Given the description of an element on the screen output the (x, y) to click on. 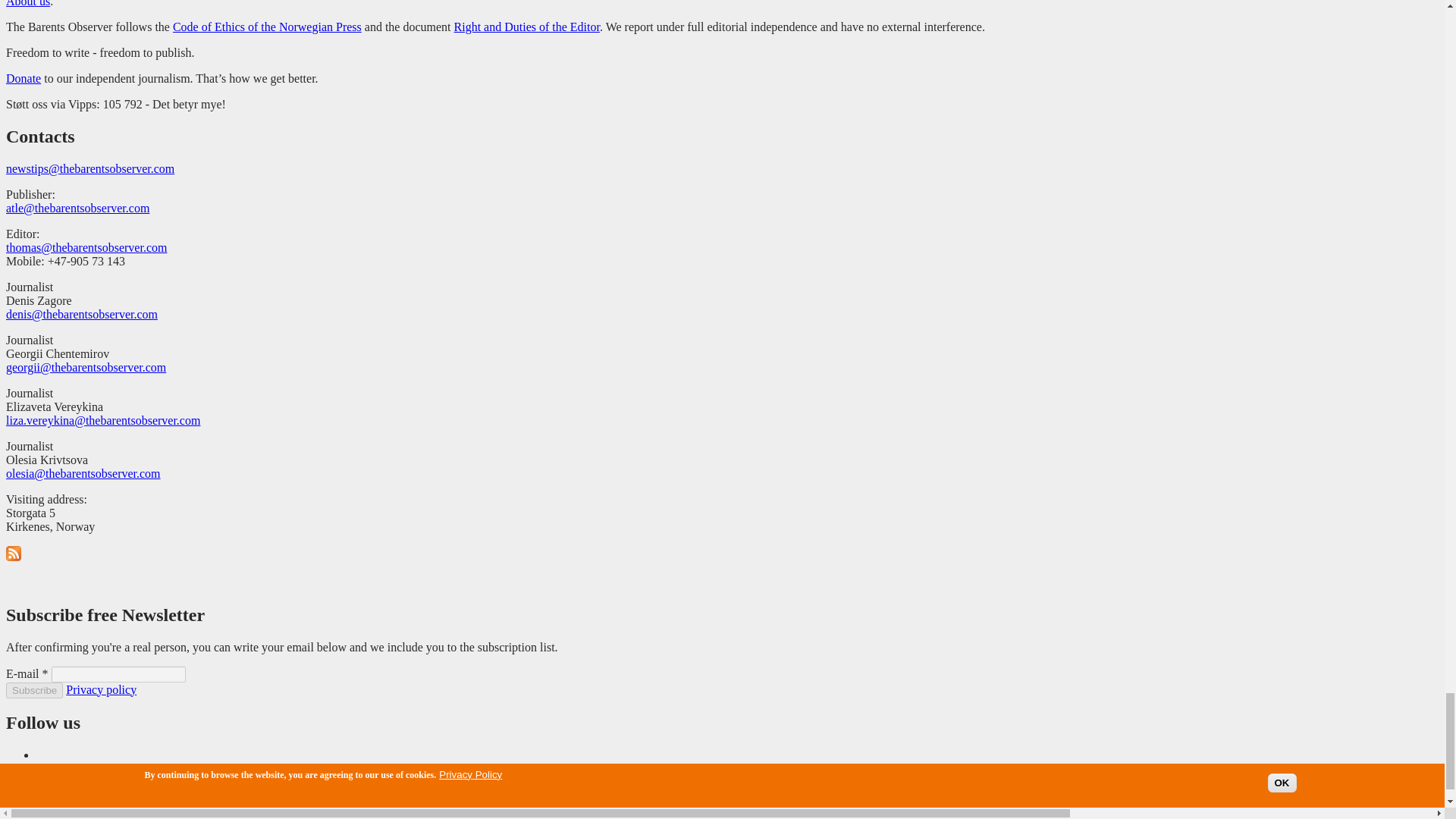
Subscribe (33, 690)
